Given the description of an element on the screen output the (x, y) to click on. 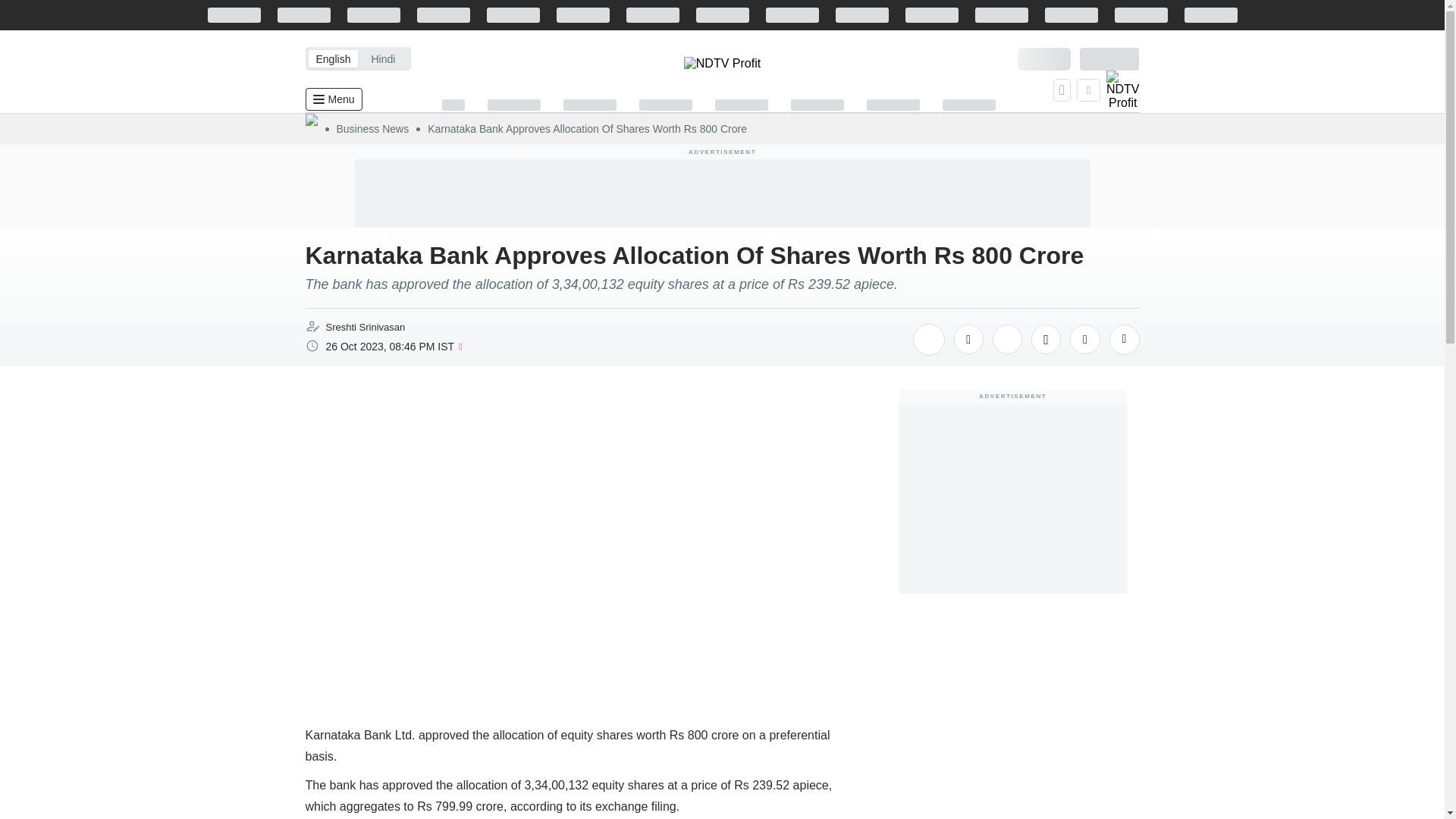
English (332, 58)
Menu (332, 98)
Hindi (382, 58)
Hindi (382, 58)
